Given the description of an element on the screen output the (x, y) to click on. 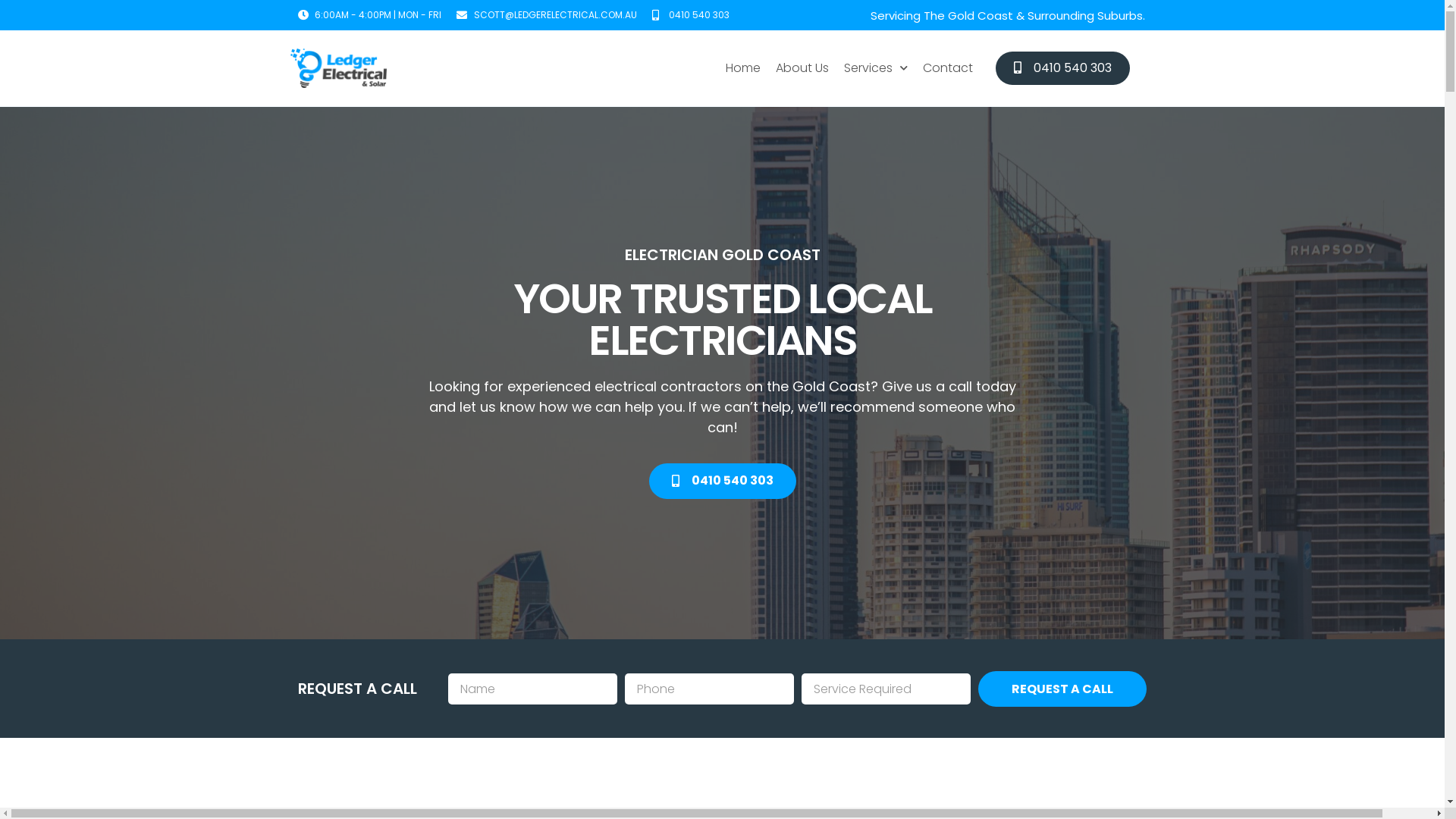
0410 540 303 Element type: text (691, 14)
0410 540 303 Element type: text (722, 480)
REQUEST A CALL Element type: text (1062, 688)
Contact Element type: text (947, 67)
Home Element type: text (743, 67)
Services Element type: text (875, 67)
SCOTT@LEDGERELECTRICAL.COM.AU Element type: text (546, 14)
About Us Element type: text (802, 67)
0410 540 303 Element type: text (1062, 67)
